Given the description of an element on the screen output the (x, y) to click on. 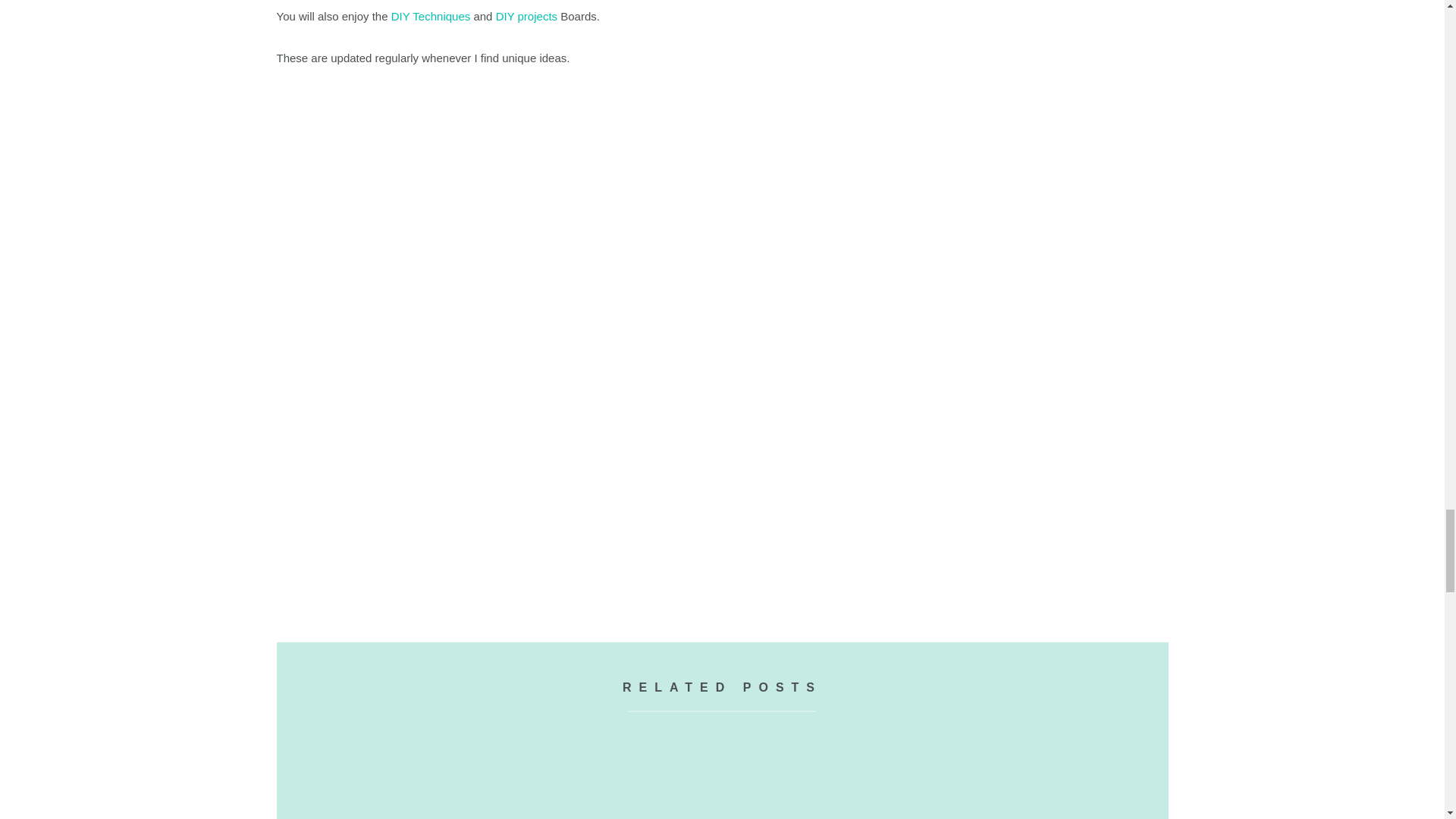
diy-techniques (430, 15)
DIY projects (526, 15)
DIY Techniques (430, 15)
